Given the description of an element on the screen output the (x, y) to click on. 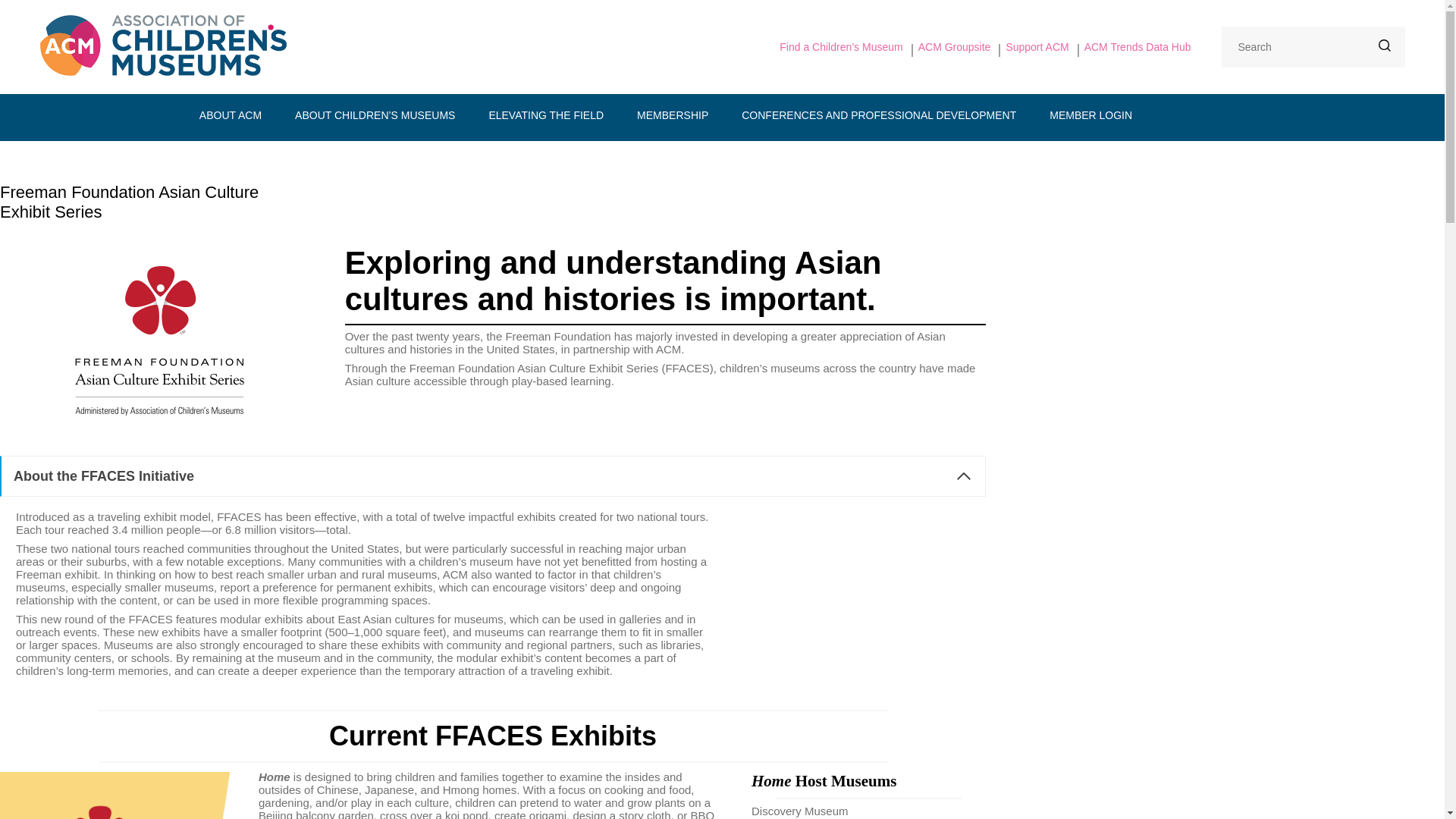
ABOUT ACM (230, 115)
ACM Groupsite (954, 46)
MEMBERSHIP (672, 115)
ACM Trends Data Hub (1137, 46)
Support ACM (1037, 46)
ELEVATING THE FIELD (545, 115)
